Given the description of an element on the screen output the (x, y) to click on. 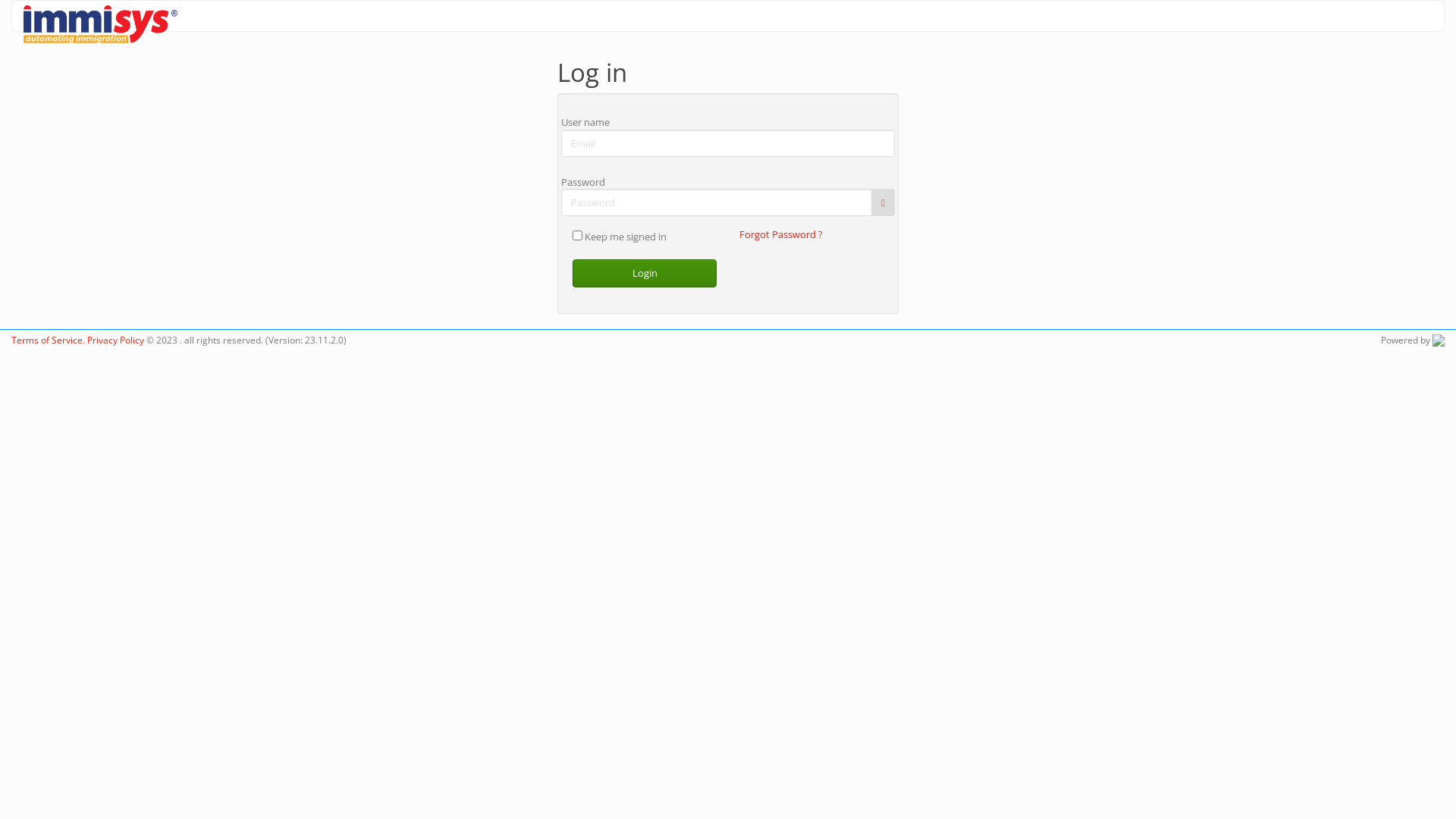
Privacy Policy Element type: text (115, 339)
Forgot Password ? Element type: text (780, 234)
Terms of Service. Element type: text (47, 339)
Login Element type: text (644, 273)
